Given the description of an element on the screen output the (x, y) to click on. 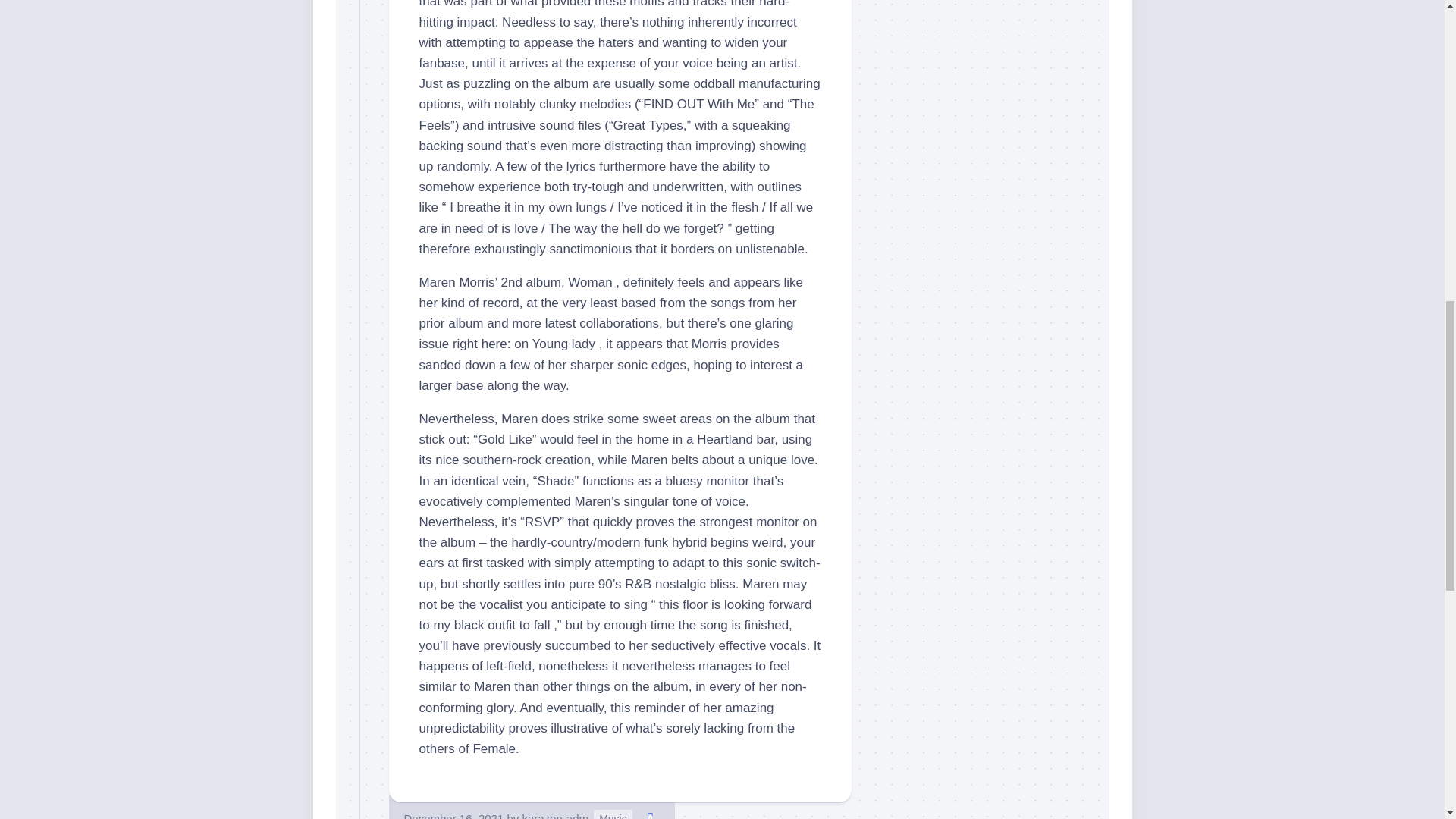
karazen-adm (554, 815)
Posts by karazen-adm (554, 815)
Music (612, 814)
0 (650, 814)
